Given the description of an element on the screen output the (x, y) to click on. 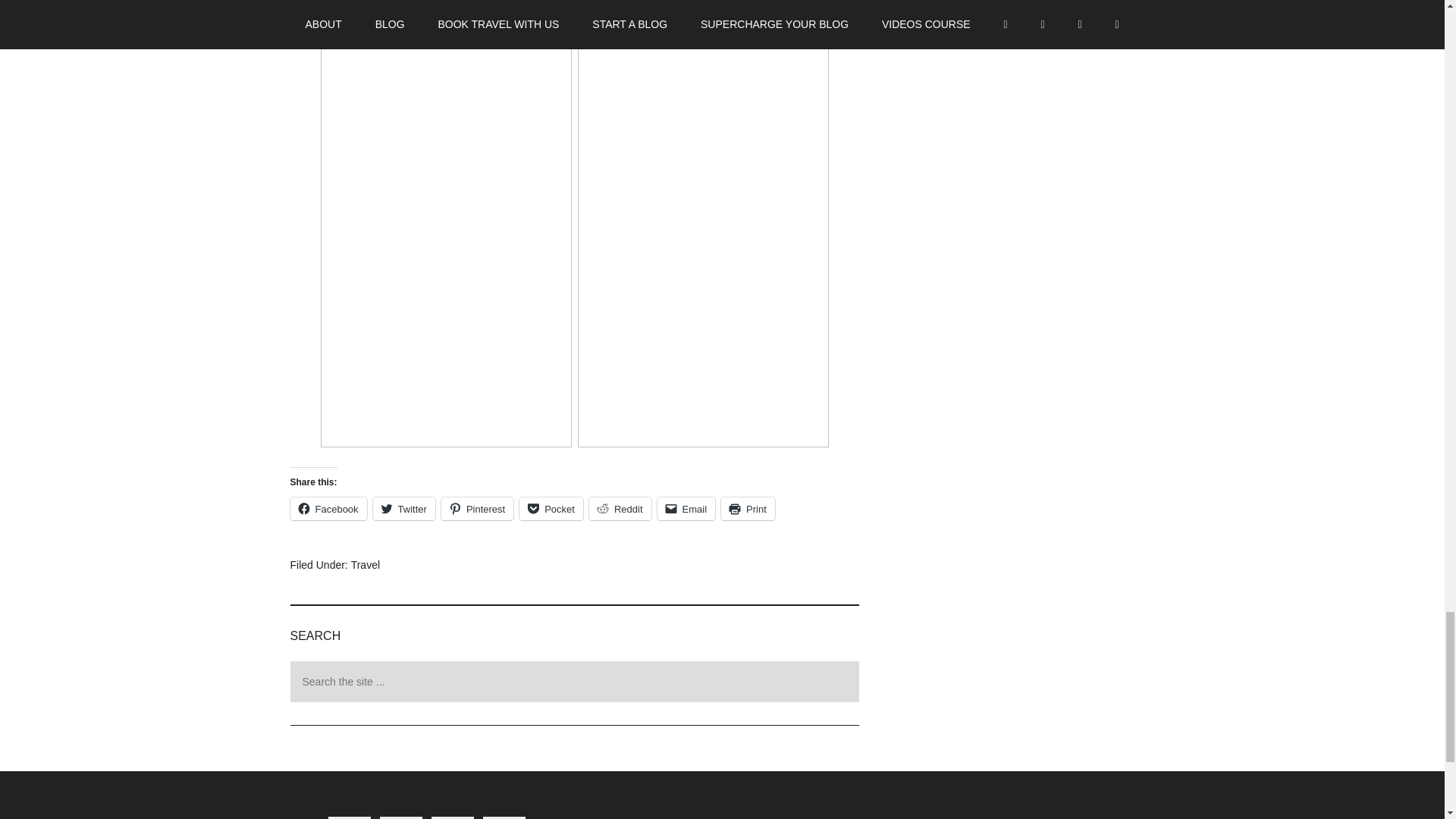
Click to print (747, 508)
Click to share on Facebook (327, 508)
Click to share on Reddit (619, 508)
Click to share on Pinterest (477, 508)
Click to email a link to a friend (687, 508)
Click to share on Pocket (551, 508)
Click to share on Twitter (403, 508)
